Given the description of an element on the screen output the (x, y) to click on. 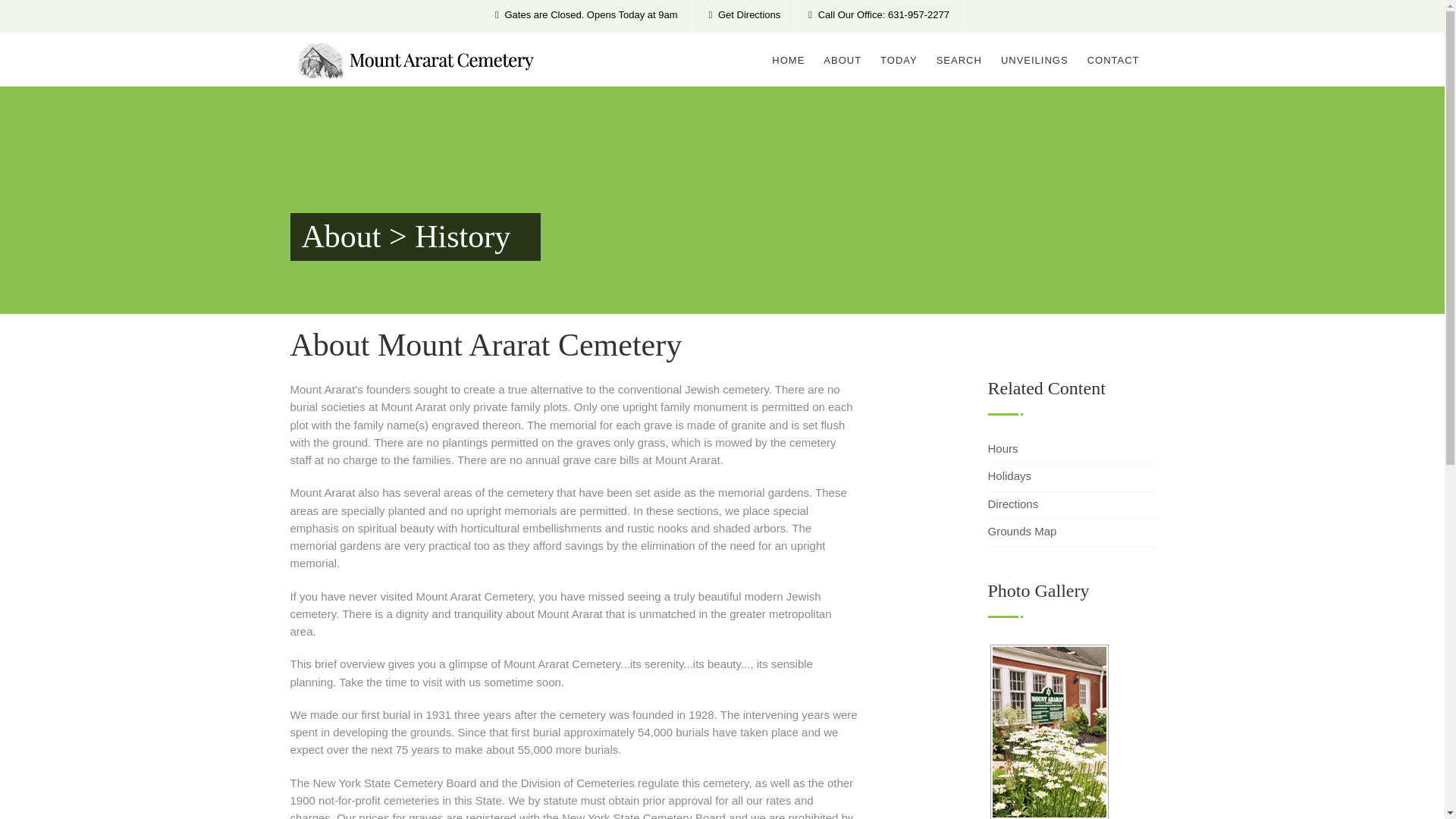
Our gates are open Sunday through Friday 9am to 4pm (586, 15)
631-957-2277 (878, 15)
Get Directions (743, 15)
Hours (1002, 448)
SEARCH (958, 60)
Holidays (1008, 475)
TODAY (898, 60)
ABOUT (842, 60)
CONTACT (1113, 60)
Directions (1012, 502)
